Given the description of an element on the screen output the (x, y) to click on. 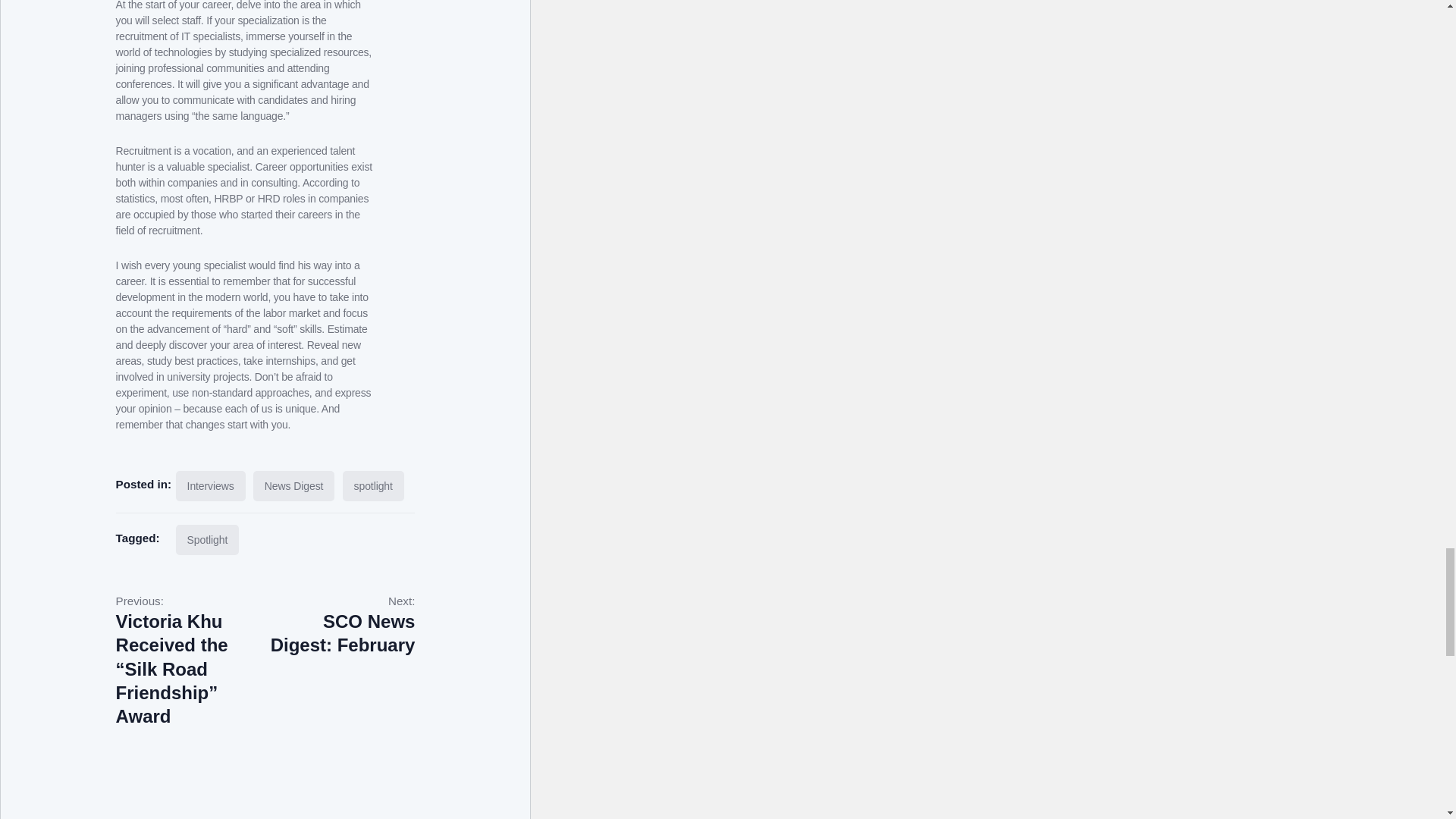
Interviews (211, 485)
spotlight (339, 624)
News Digest (373, 485)
Spotlight (293, 485)
